Given the description of an element on the screen output the (x, y) to click on. 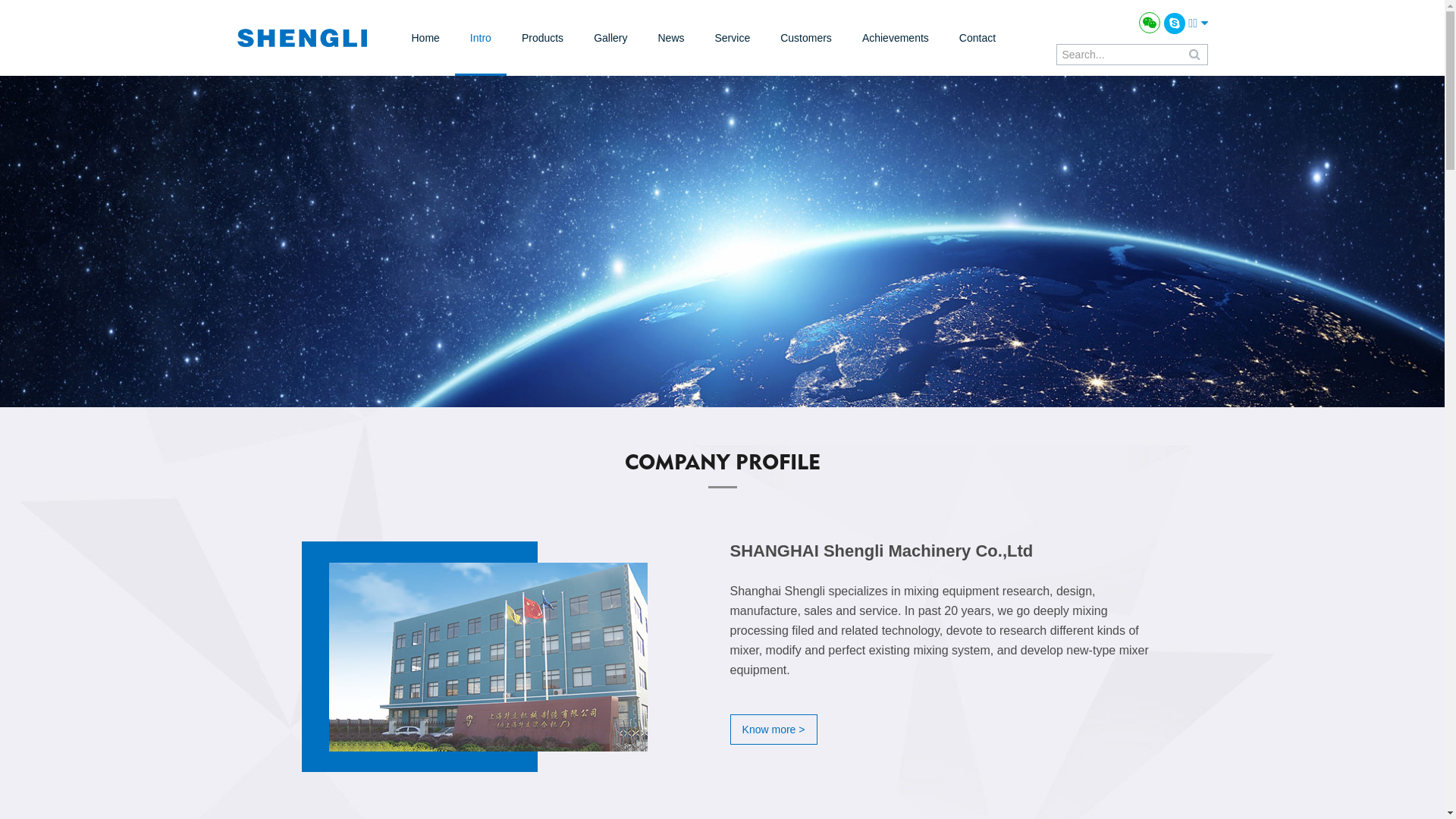
Products Element type: text (542, 37)
Service Element type: text (731, 37)
Customers Element type: text (805, 37)
Home Element type: text (425, 37)
Intro Element type: text (480, 37)
Contact Element type: text (977, 37)
News Element type: text (670, 37)
Gallery Element type: text (610, 37)
Achievements Element type: text (895, 37)
Know more > Element type: text (772, 729)
